Given the description of an element on the screen output the (x, y) to click on. 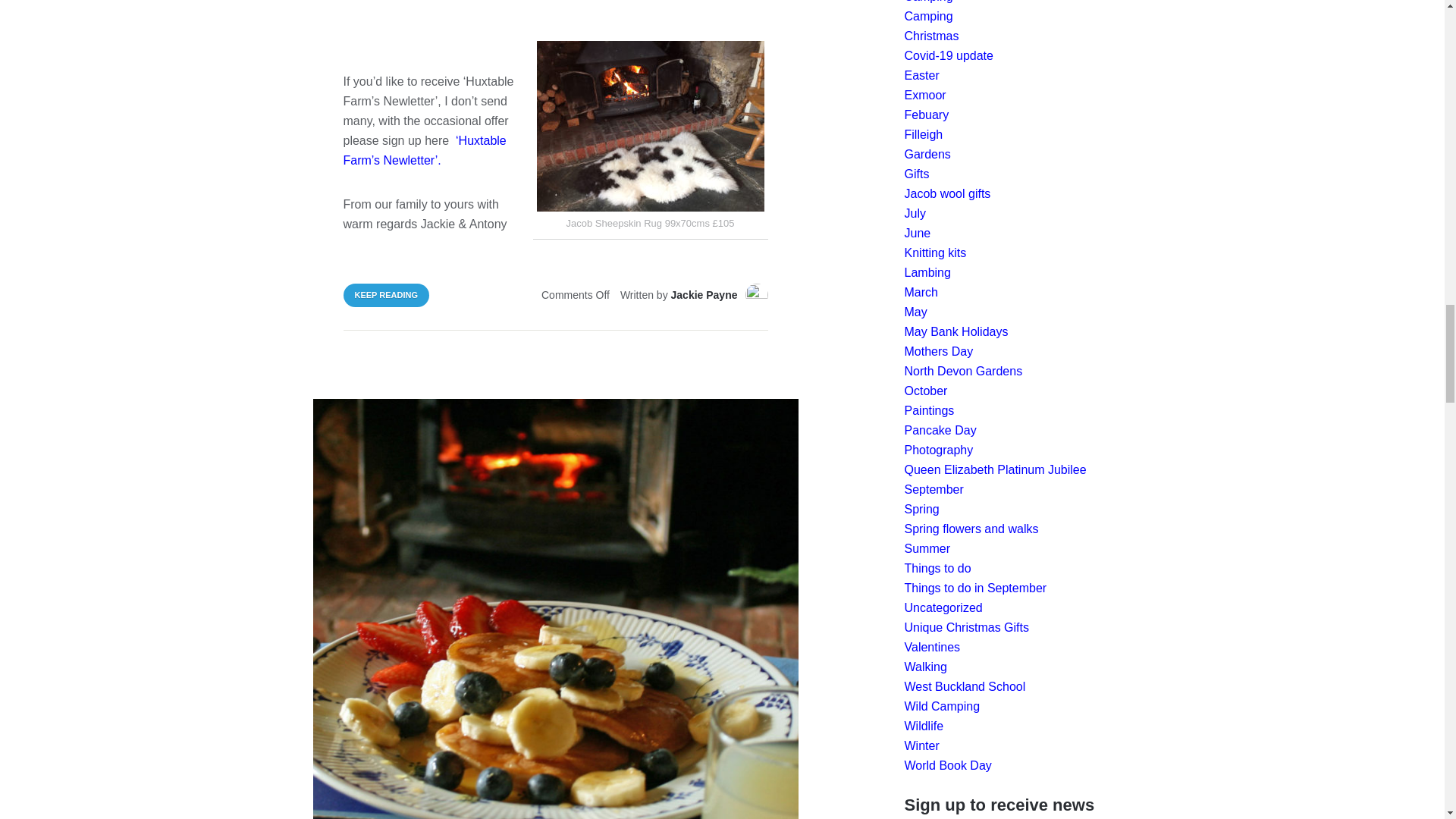
View all posts by Jackie Payne (704, 295)
